Given the description of an element on the screen output the (x, y) to click on. 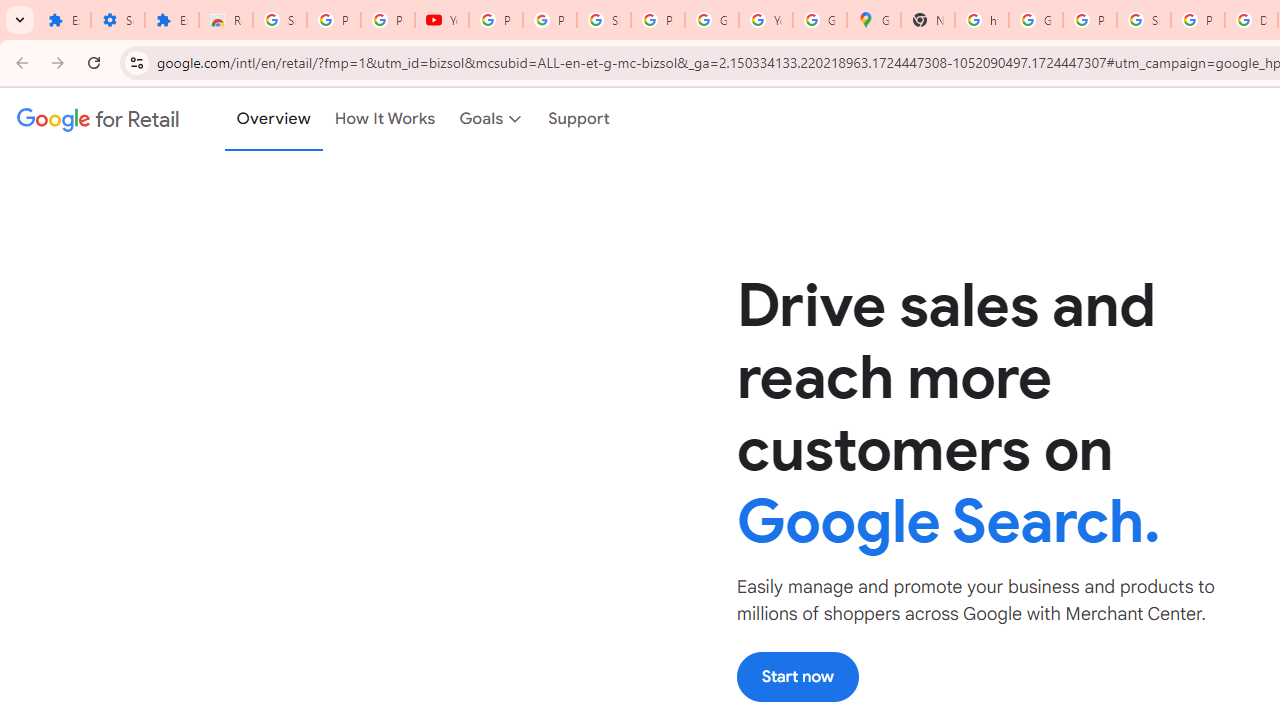
Support (579, 119)
Reviews: Helix Fruit Jump Arcade Game (225, 20)
YouTube (441, 20)
New Tab (927, 20)
Sign in - Google Accounts (280, 20)
